Given the description of an element on the screen output the (x, y) to click on. 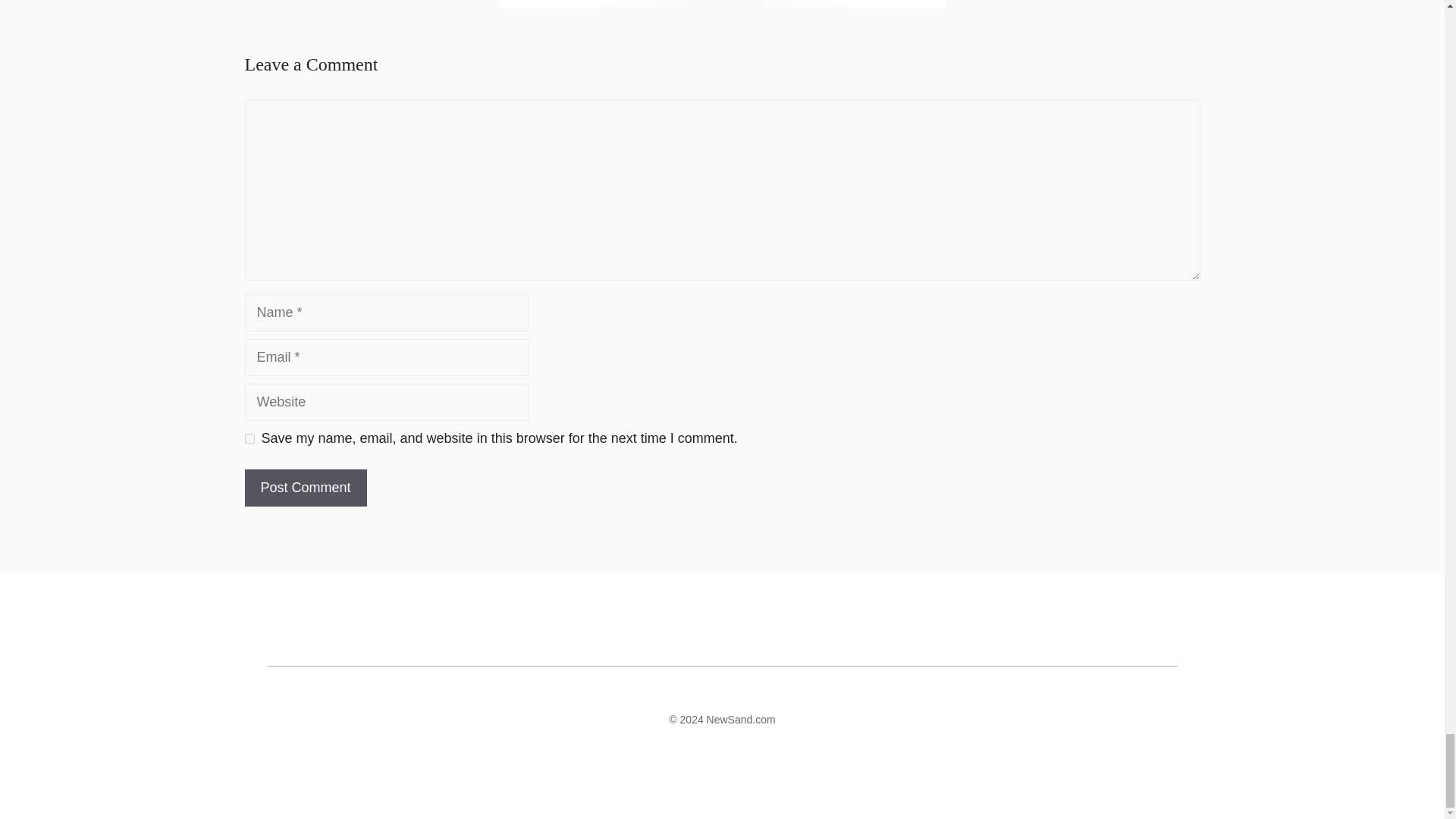
Post Comment (305, 487)
Post Comment (305, 487)
yes (248, 438)
